Given the description of an element on the screen output the (x, y) to click on. 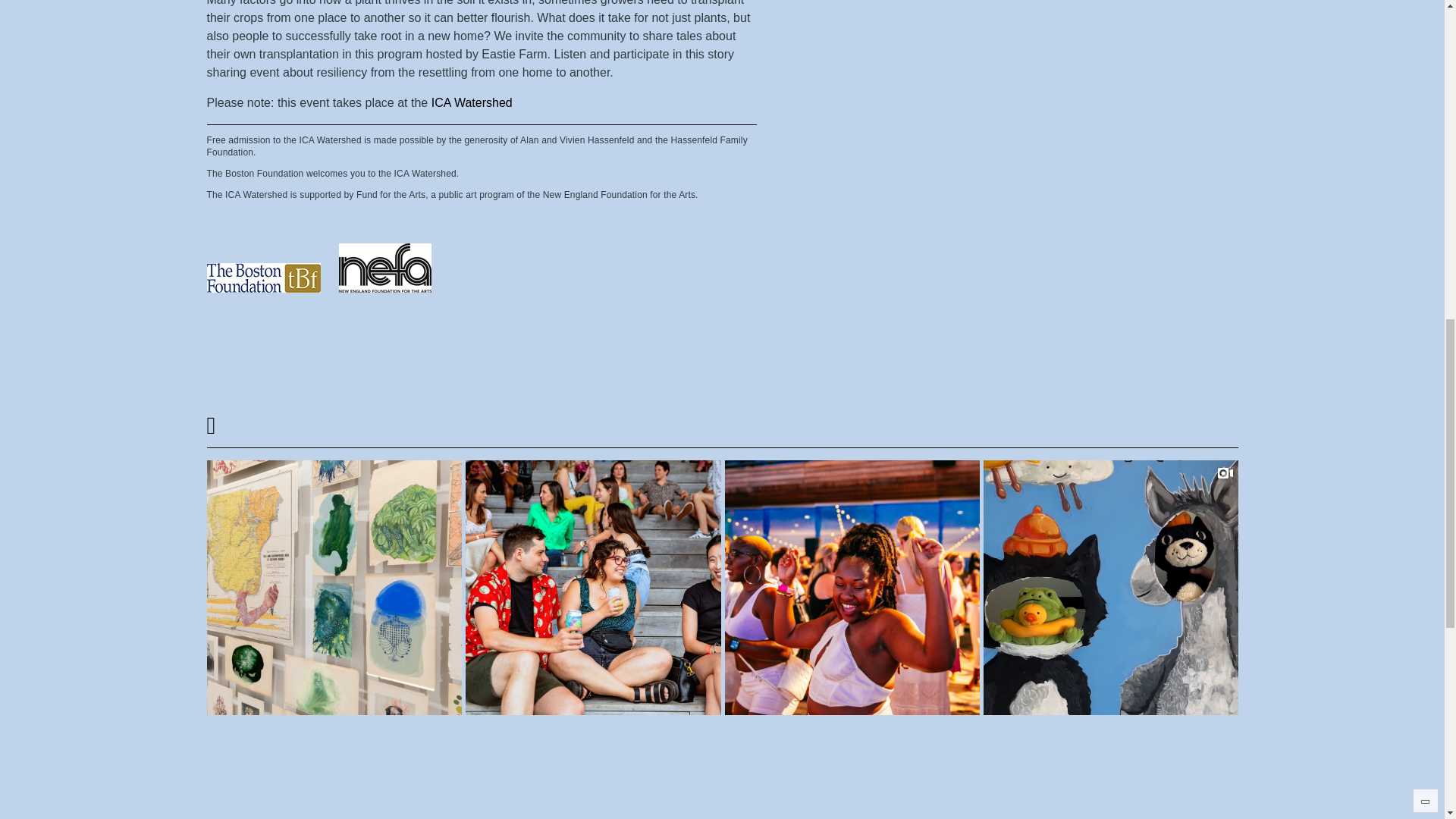
ICA Watershed (471, 102)
